Given the description of an element on the screen output the (x, y) to click on. 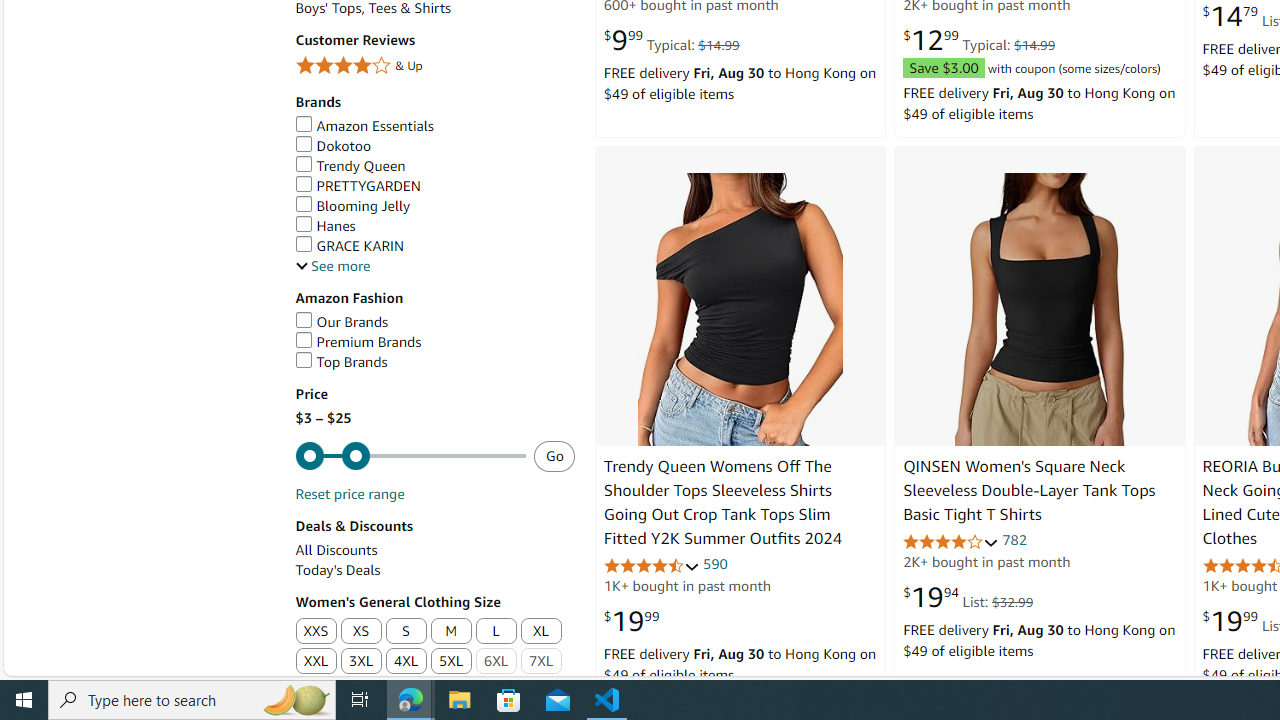
5XL (451, 662)
782 (1014, 539)
Premium Brands (434, 342)
5XL (451, 662)
$9.99 Typical: $14.99 (670, 40)
3XL (360, 661)
L (495, 632)
3XL (362, 662)
L (496, 632)
$12.99 Typical: $14.99 (979, 40)
6XL (496, 662)
Dokotoo (333, 146)
S (406, 631)
4XL (406, 662)
S (406, 632)
